Given the description of an element on the screen output the (x, y) to click on. 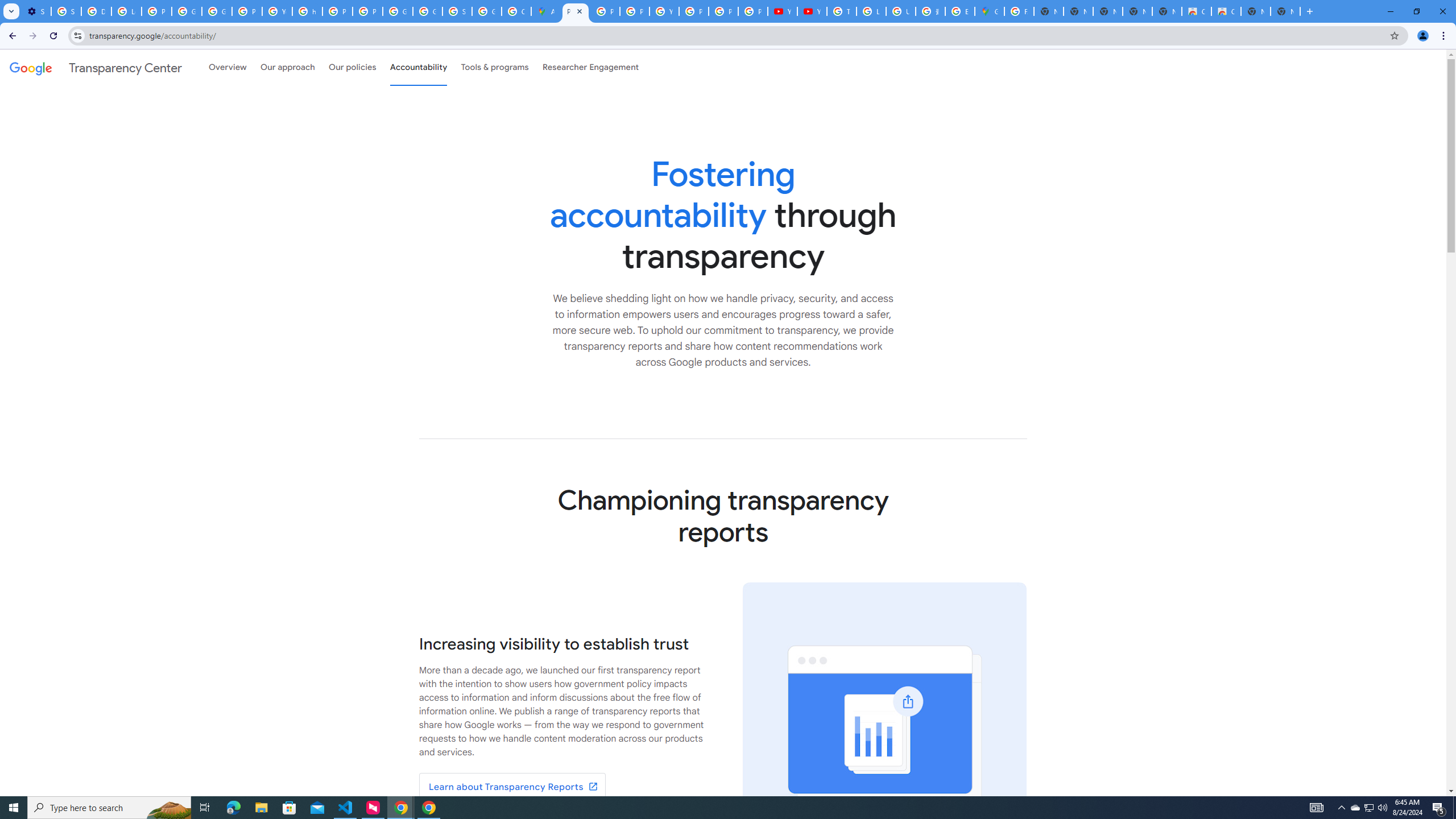
YouTube (811, 11)
Privacy Checkup (723, 11)
Privacy Checkup (753, 11)
Sign in - Google Accounts (456, 11)
